Given the description of an element on the screen output the (x, y) to click on. 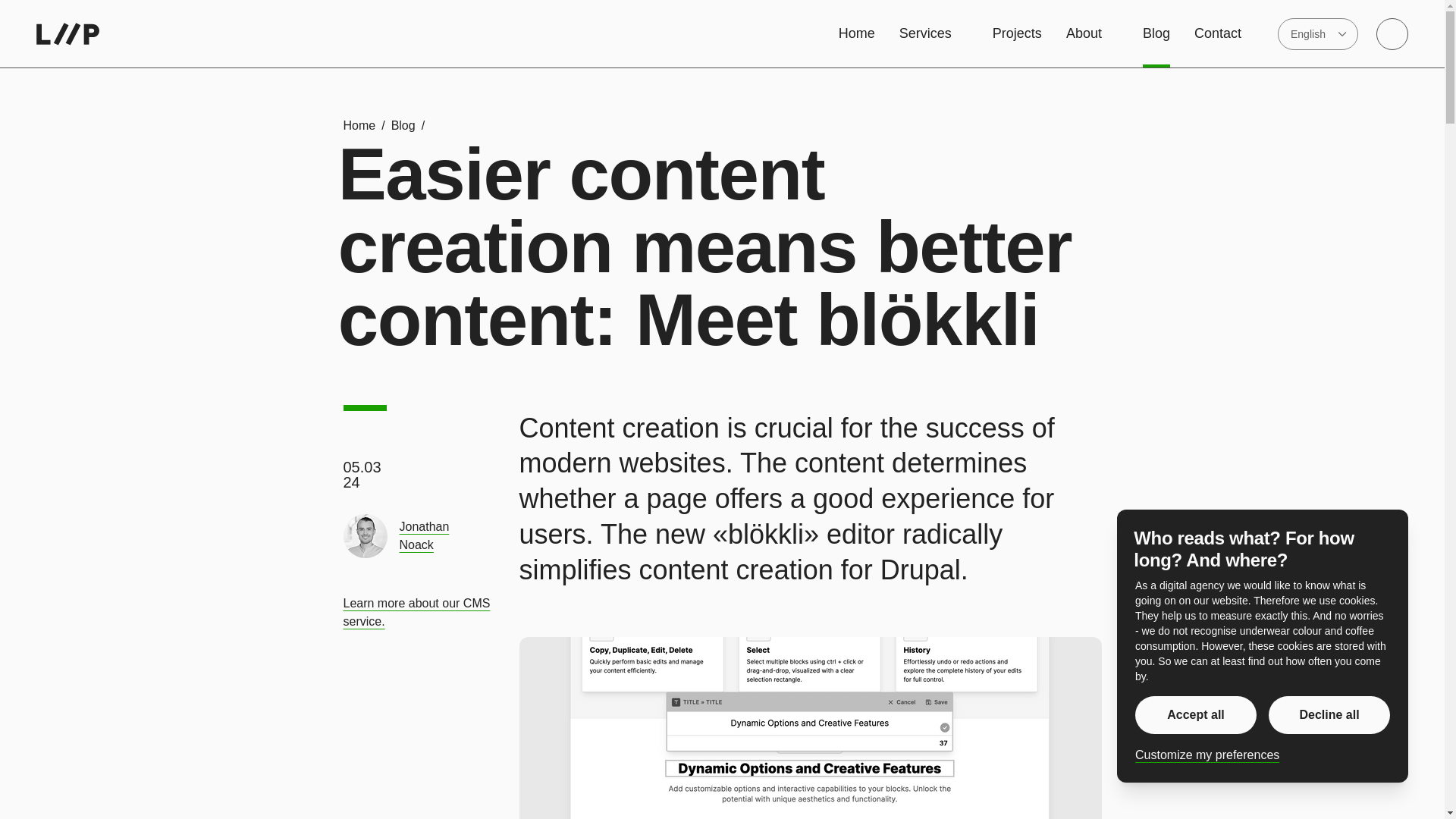
Services (933, 33)
Projects (1017, 33)
About (1091, 33)
Home (856, 33)
